Given the description of an element on the screen output the (x, y) to click on. 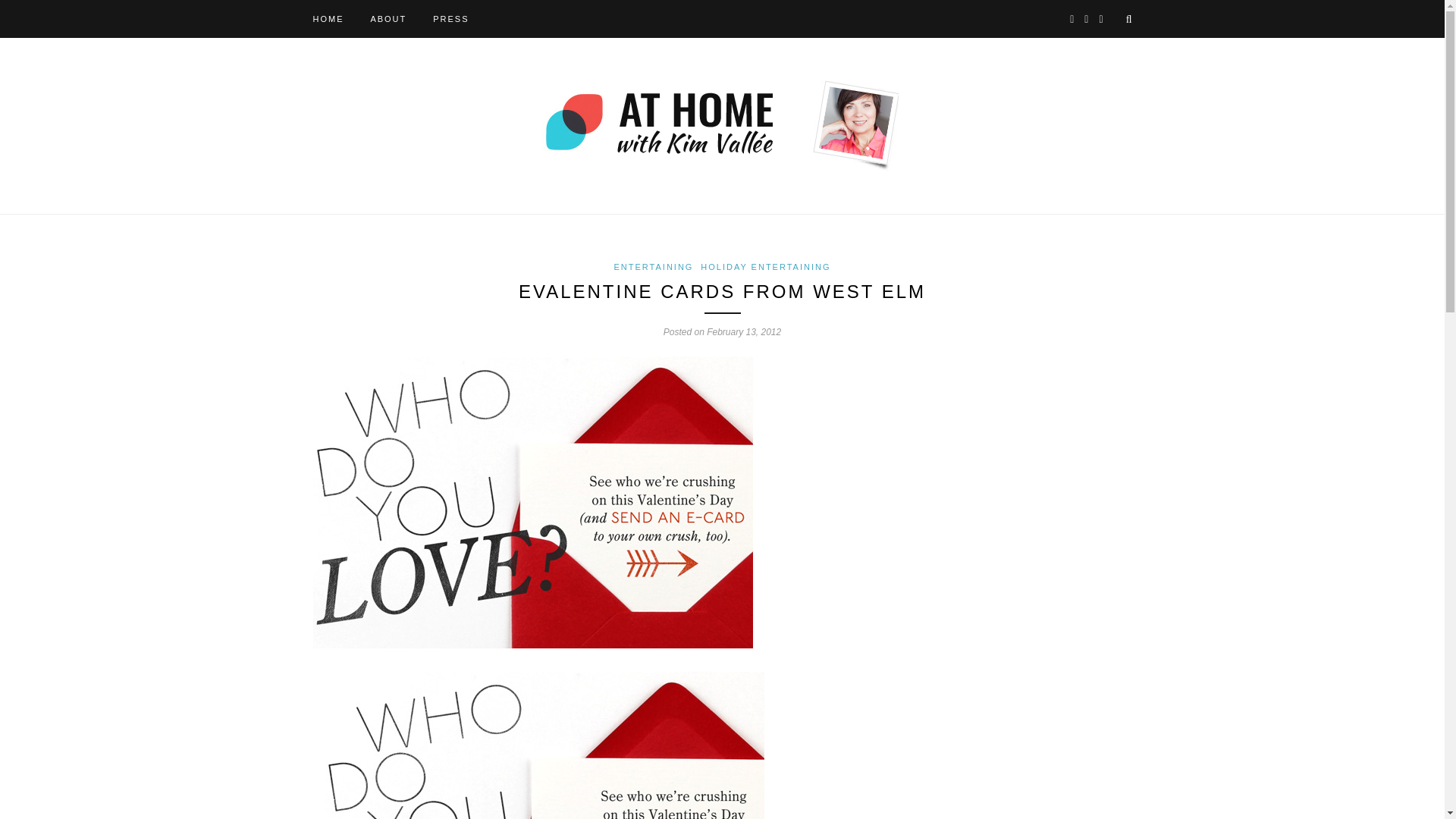
About this family lifestyle blog (387, 18)
west elm valentine's day ecards (544, 744)
PRESS (450, 18)
HOLIDAY ENTERTAINING (764, 266)
ENTERTAINING (654, 266)
ABOUT (387, 18)
